Given the description of an element on the screen output the (x, y) to click on. 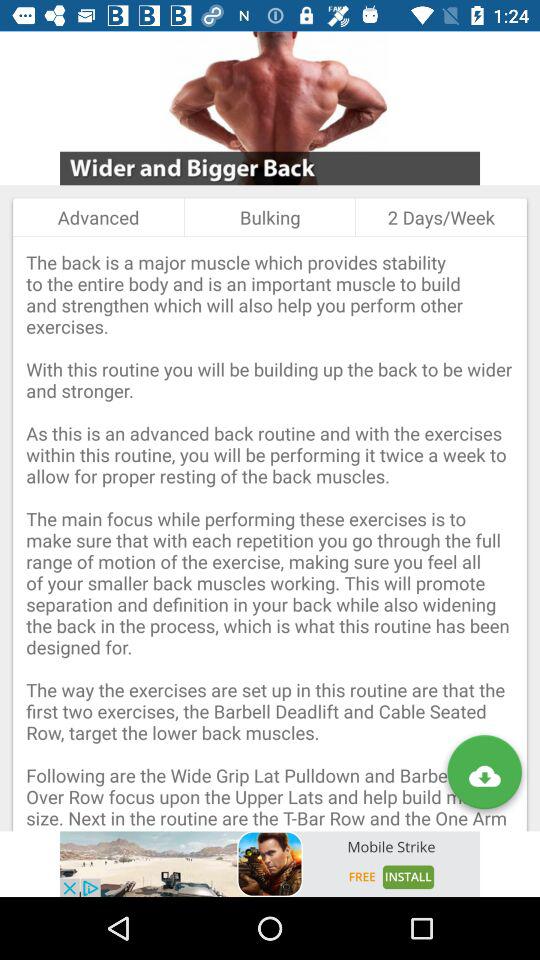
press icon above the the back is (440, 217)
